Given the description of an element on the screen output the (x, y) to click on. 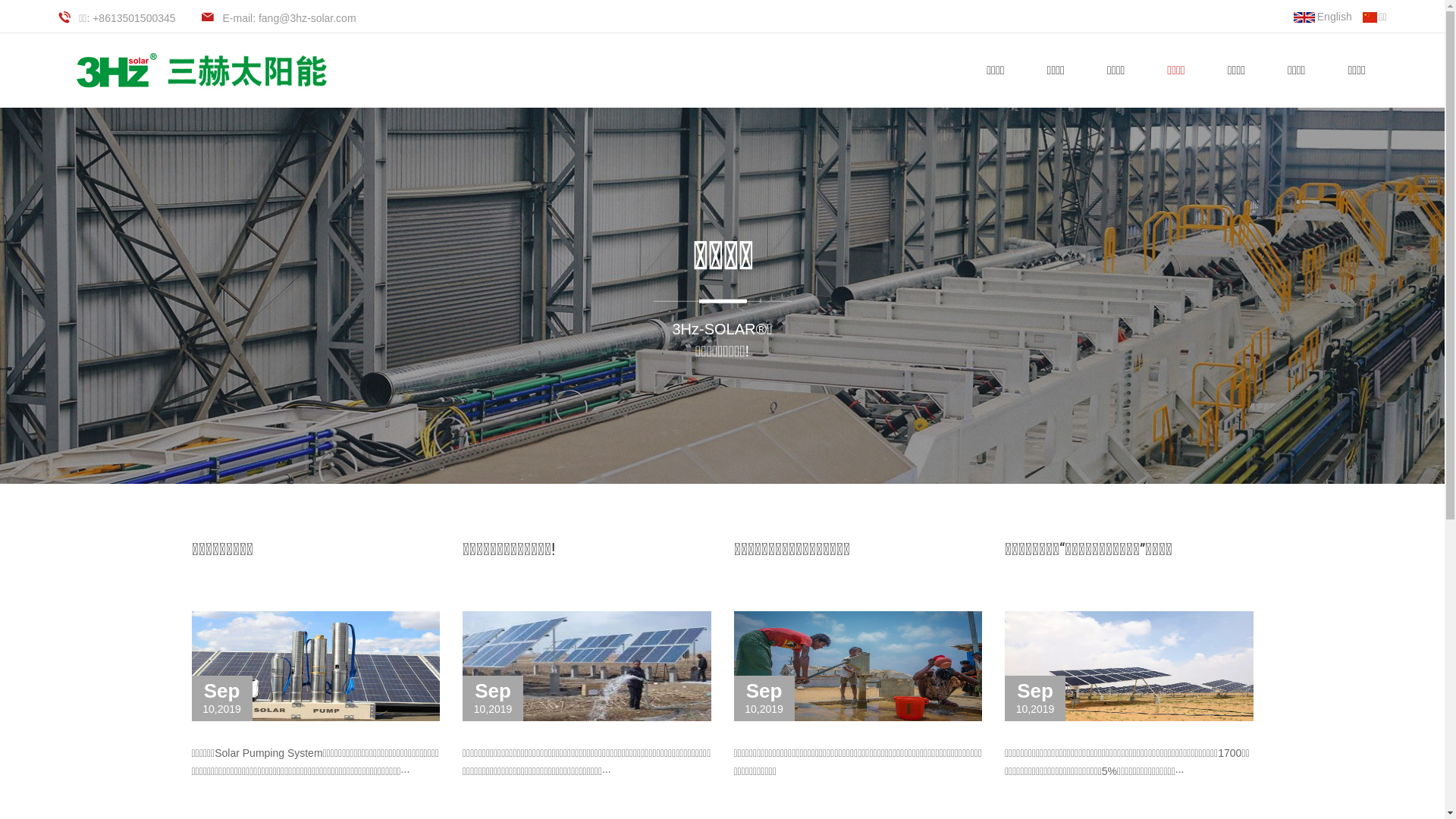
English Element type: text (1322, 17)
